Given the description of an element on the screen output the (x, y) to click on. 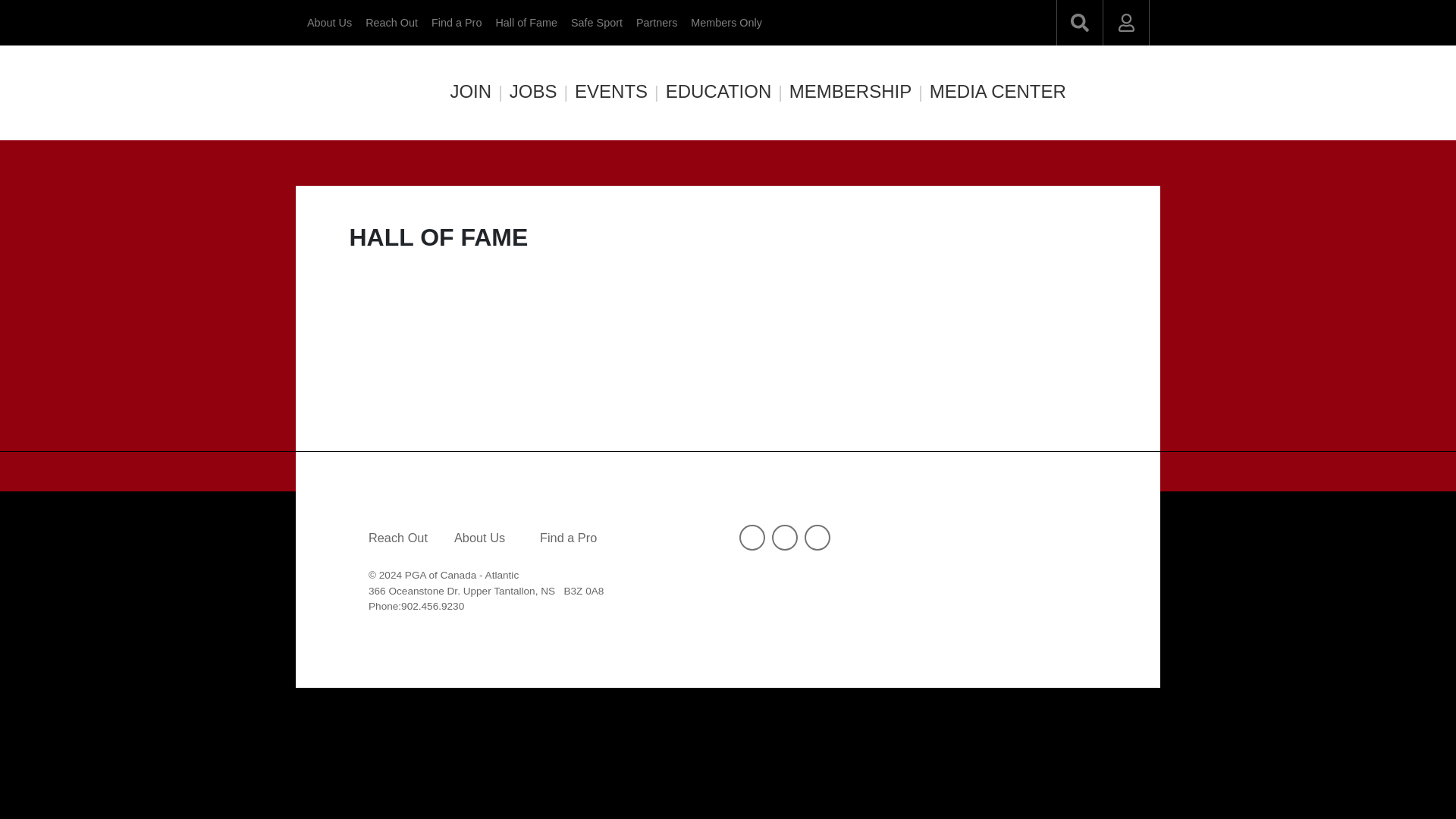
Reach Out (398, 537)
PGA of Canada - Atlantic (360, 92)
EDUCATION (712, 91)
MEDIA CENTER (991, 91)
Partners (656, 22)
Twitter (752, 537)
Members Only (725, 22)
Hall of Fame (526, 22)
EVENTS (605, 91)
Find a Pro (568, 537)
